Given the description of an element on the screen output the (x, y) to click on. 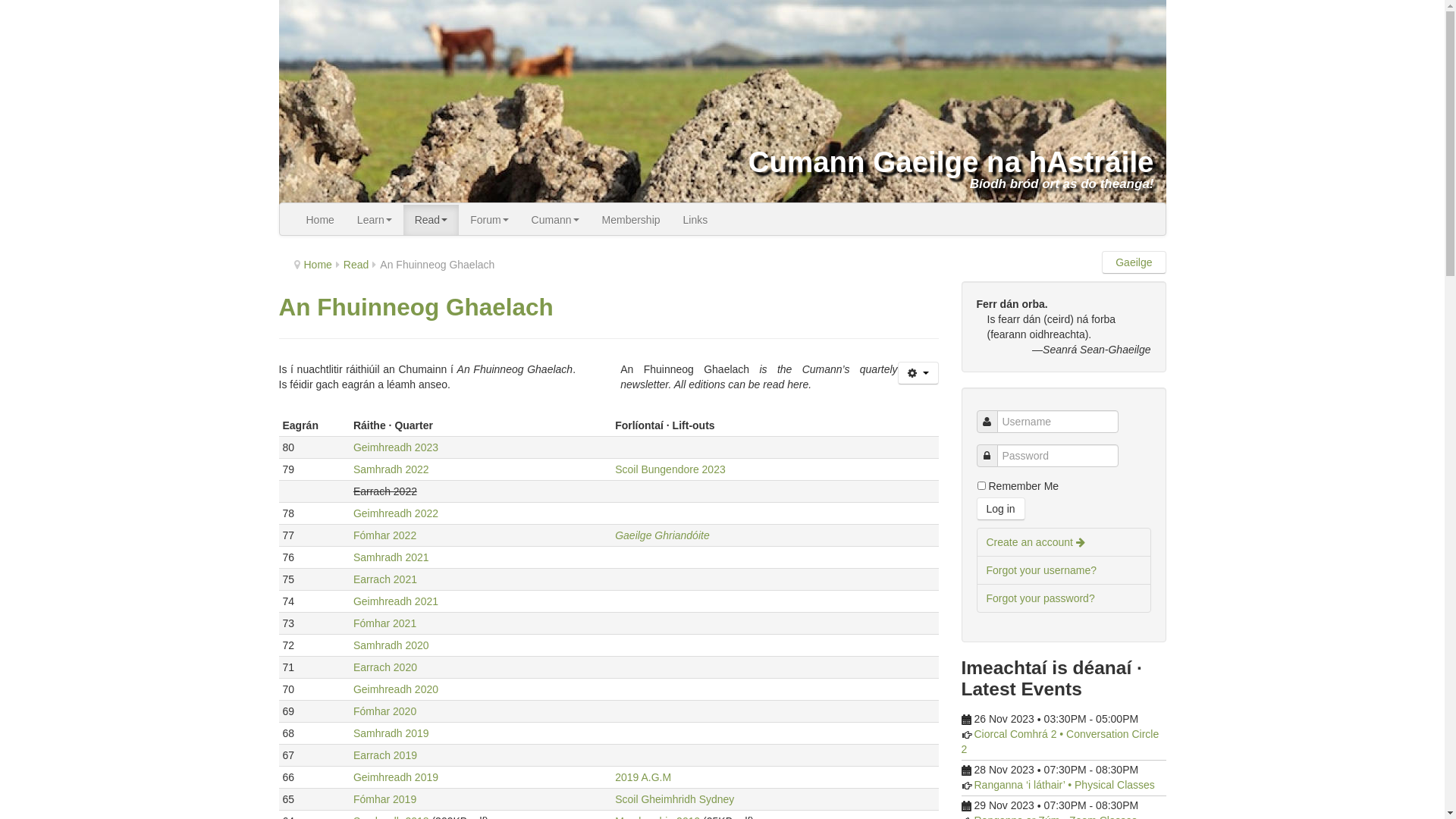
Geimhreadh 2023 Element type: text (395, 447)
Earrach 2021 Element type: text (385, 579)
Earrach 2020 Element type: text (385, 667)
Read Element type: text (355, 264)
Forgot your username? Element type: text (1063, 569)
Samhradh 2019 Element type: text (391, 733)
2019 A.G.M Element type: text (643, 777)
Forgot your password? Element type: text (1063, 597)
Geimhreadh 2022 Element type: text (395, 513)
Membership Element type: text (630, 219)
Geimhreadh 2020 Element type: text (395, 689)
Samhradh 2021 Element type: text (391, 557)
Gaeilge Element type: text (1133, 262)
Forum Element type: text (488, 219)
An Fhuinneog Ghaelach Element type: text (416, 306)
Geimhreadh 2019 Element type: text (395, 777)
Scoil Bungendore 2023 Element type: text (670, 469)
Read Element type: text (430, 219)
Cumann Element type: text (555, 219)
Samhradh 2022 Element type: text (391, 469)
Home Element type: text (317, 264)
Samhradh 2020 Element type: text (391, 645)
Links Element type: text (695, 219)
Geimhreadh 2021 Element type: text (395, 601)
Home Element type: text (319, 219)
Create an account Element type: text (1063, 541)
Log in Element type: text (1000, 508)
Earrach 2019 Element type: text (385, 755)
Scoil Gheimhridh Sydney Element type: text (674, 799)
Learn Element type: text (374, 219)
